Given the description of an element on the screen output the (x, y) to click on. 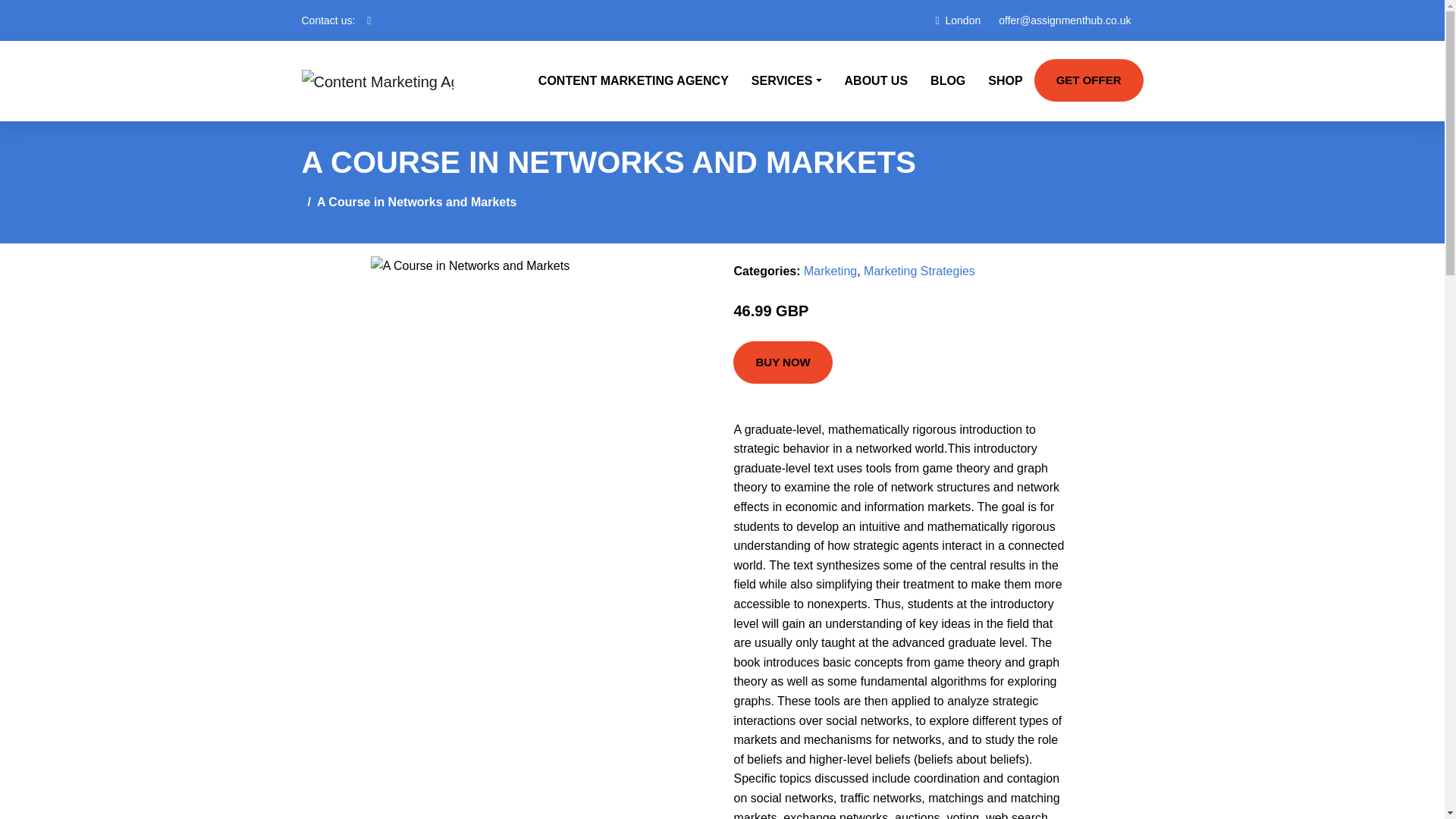
Marketing (830, 270)
BUY NOW (782, 362)
Marketing Strategies (919, 270)
SERVICES (785, 80)
ABOUT US (876, 80)
London (963, 20)
GET OFFER (1087, 79)
CONTENT MARKETING AGENCY (633, 80)
